Given the description of an element on the screen output the (x, y) to click on. 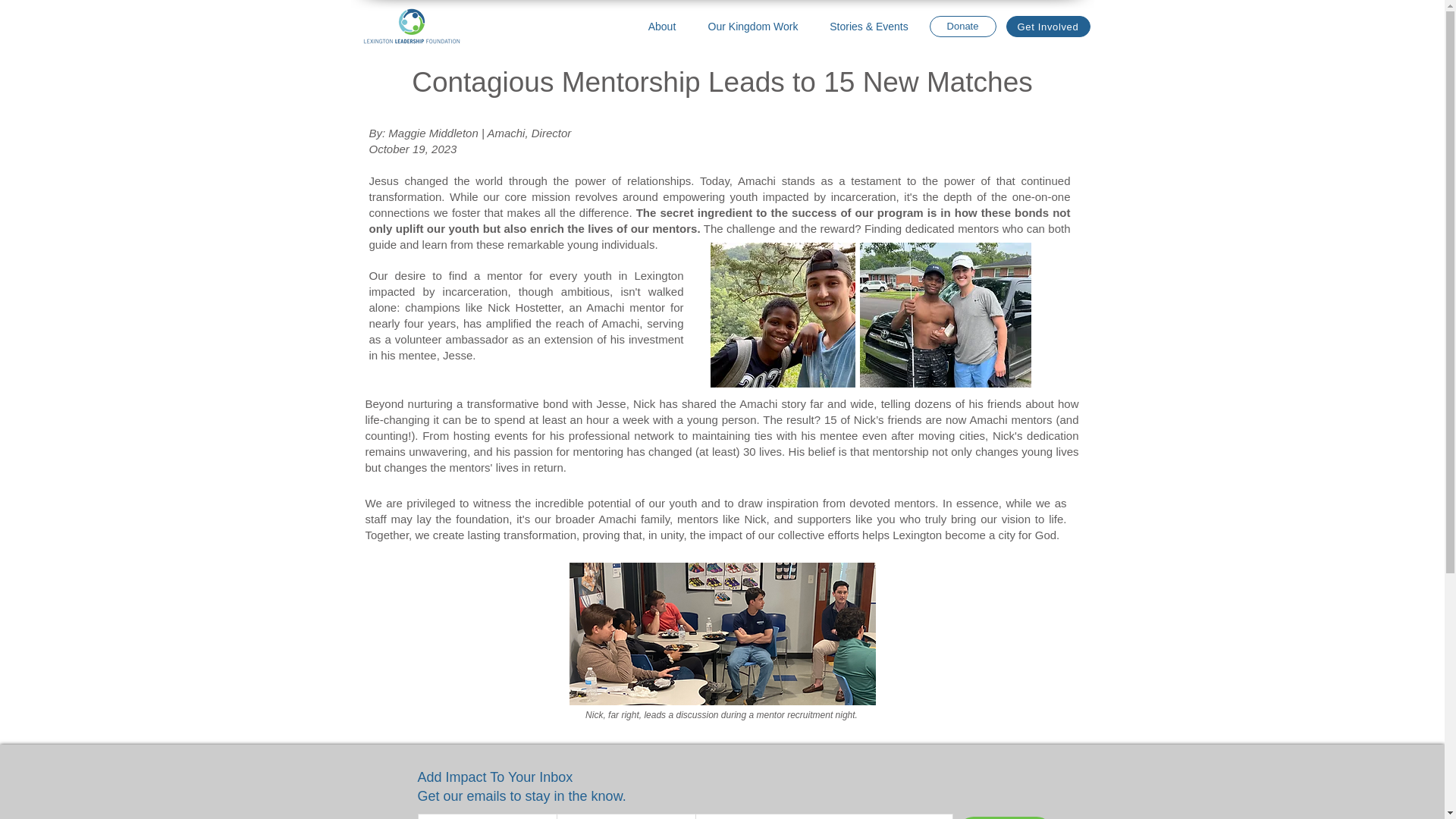
Our Kingdom Work (752, 26)
119AFBC1-1F4C-4CA3-AD79-55C8745FC803.HEI (722, 633)
Get Involved (1047, 25)
About (662, 26)
Donate (962, 26)
SUBSCRIBE (1003, 817)
